Given the description of an element on the screen output the (x, y) to click on. 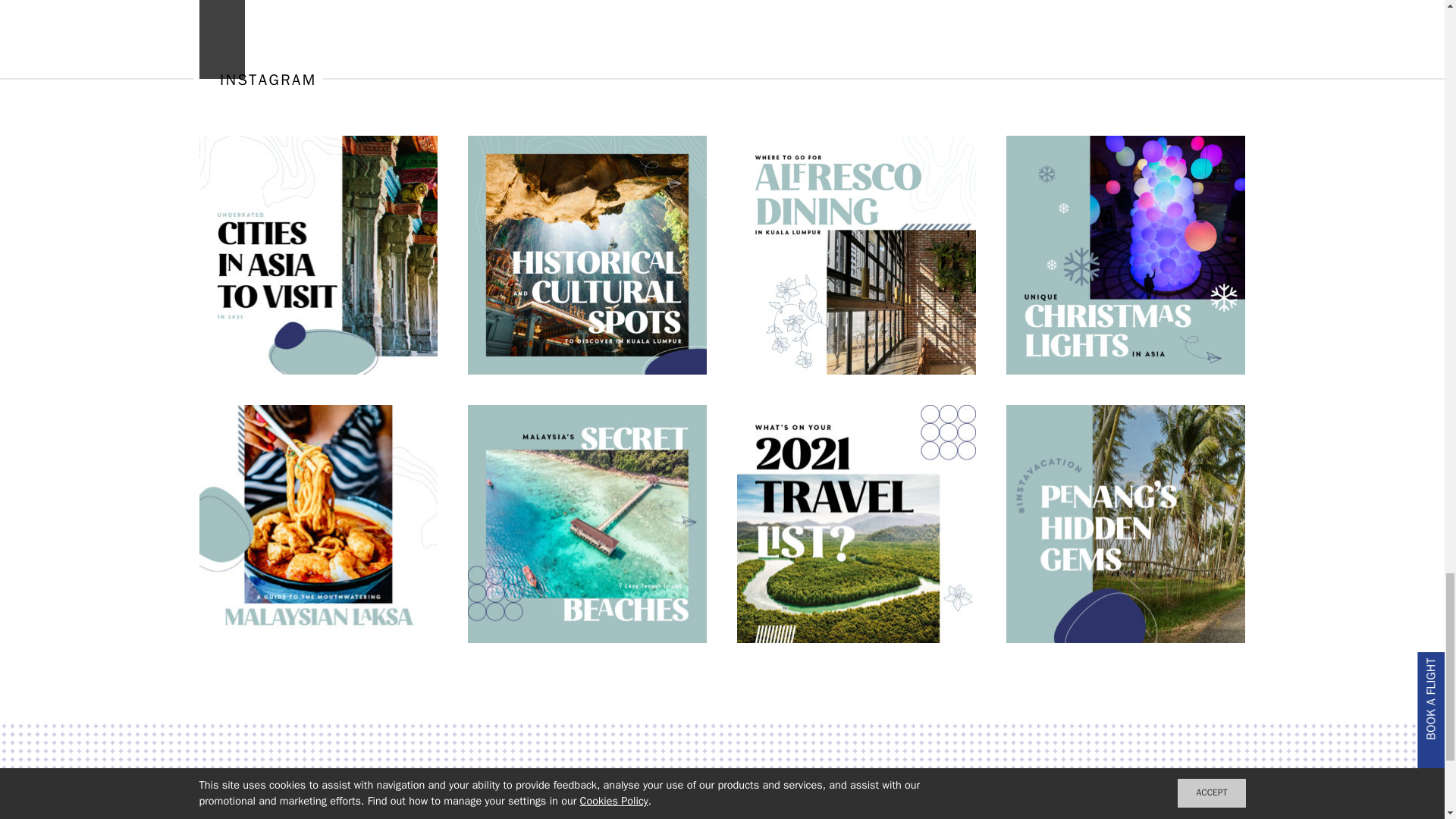
INSTAGRAM (256, 78)
